Given the description of an element on the screen output the (x, y) to click on. 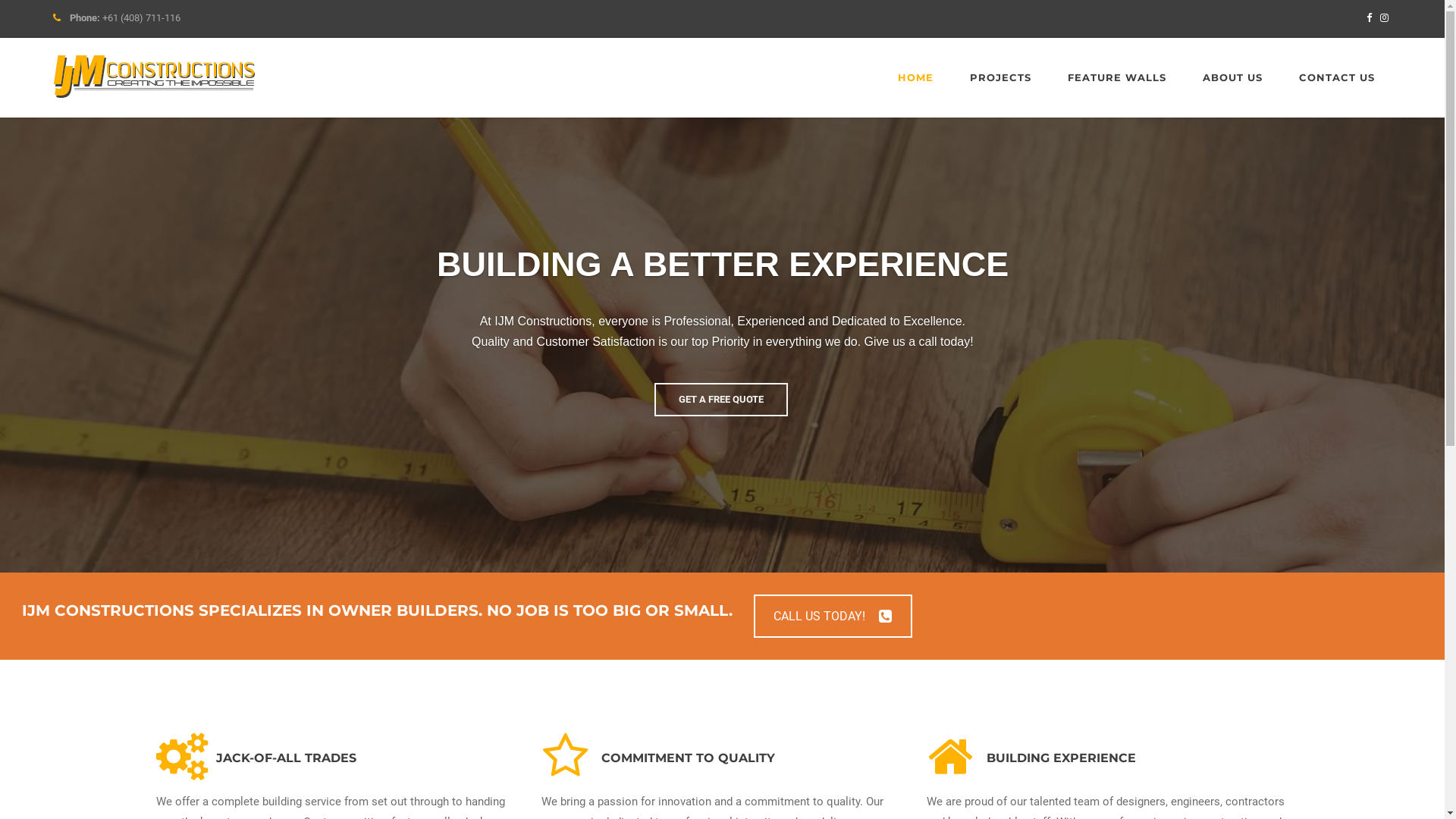
CALL US TODAY! Element type: text (832, 615)
ABOUT US Element type: text (1232, 77)
FEATURE WALLS Element type: text (1116, 77)
PROJECTS Element type: text (1000, 77)
IJM Construction Element type: hover (155, 76)
HOME Element type: text (915, 77)
CONTACT US Element type: text (1336, 77)
GET A FREE QUOTE Element type: text (703, 399)
